Given the description of an element on the screen output the (x, y) to click on. 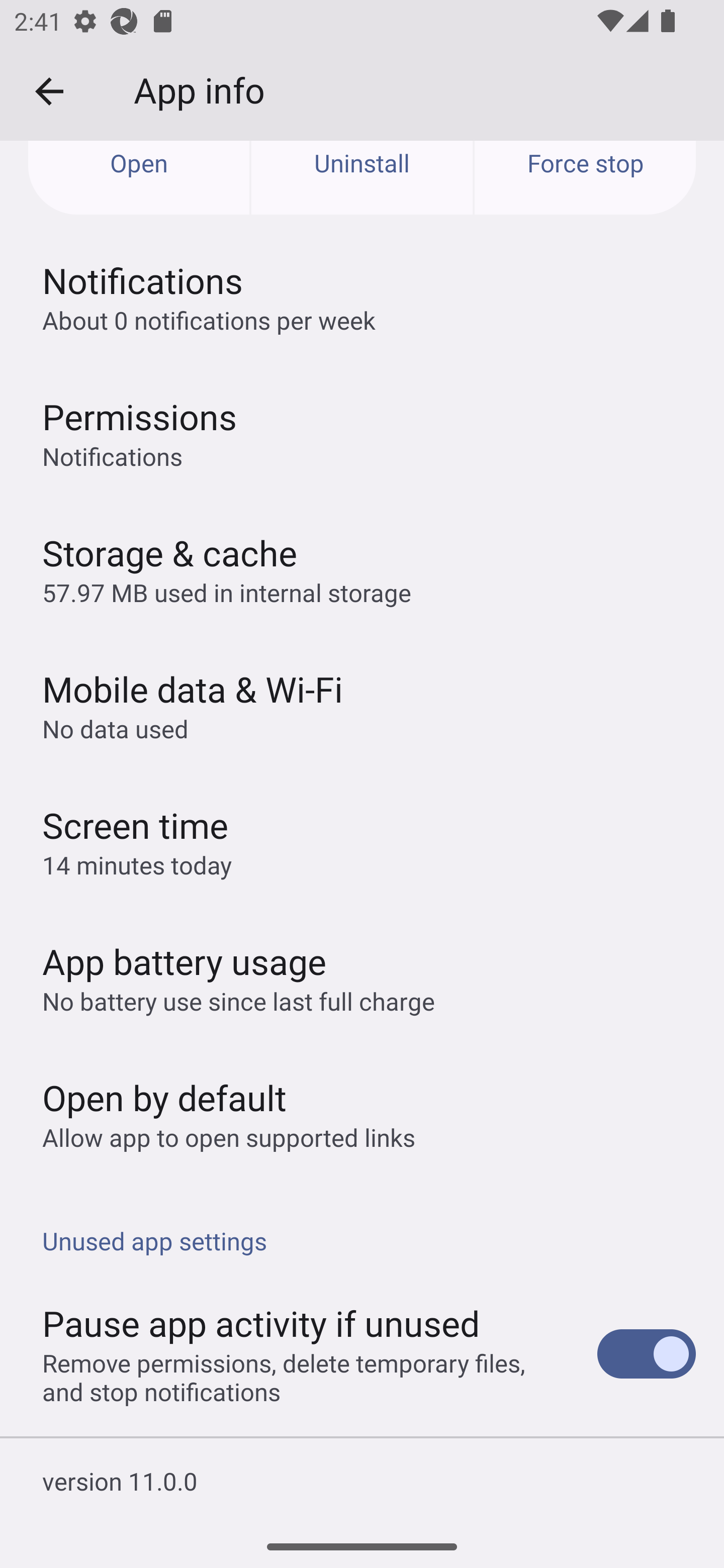
Navigate up (49, 91)
Open (138, 177)
Uninstall (361, 177)
Force stop (584, 177)
Notifications About 0 notifications per week (362, 296)
Permissions Notifications (362, 433)
Storage & cache 57.97 MB used in internal storage (362, 568)
Mobile data & Wi‑Fi No data used (362, 704)
Screen time 14 minutes today (362, 841)
Open by default Allow app to open supported links (362, 1113)
